Given the description of an element on the screen output the (x, y) to click on. 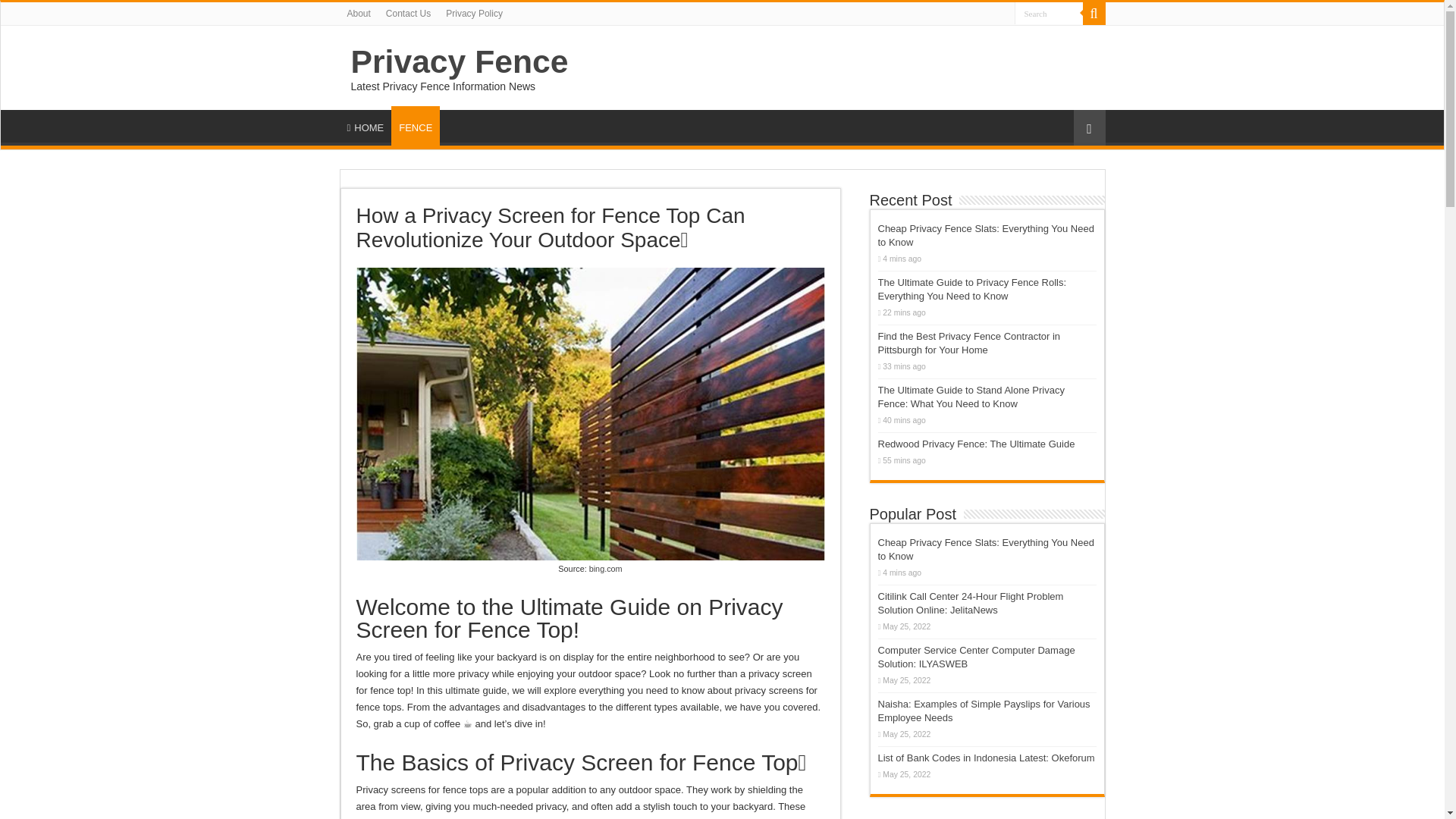
Privacy Policy (474, 13)
Random Article (1089, 127)
Cheap Privacy Fence Slats: Everything You Need to Know (985, 549)
bing.com (606, 568)
Cheap Privacy Fence Slats: Everything You Need to Know (985, 235)
Contact Us (408, 13)
Search (1094, 13)
About (358, 13)
FENCE (415, 125)
Search (1048, 13)
